Given the description of an element on the screen output the (x, y) to click on. 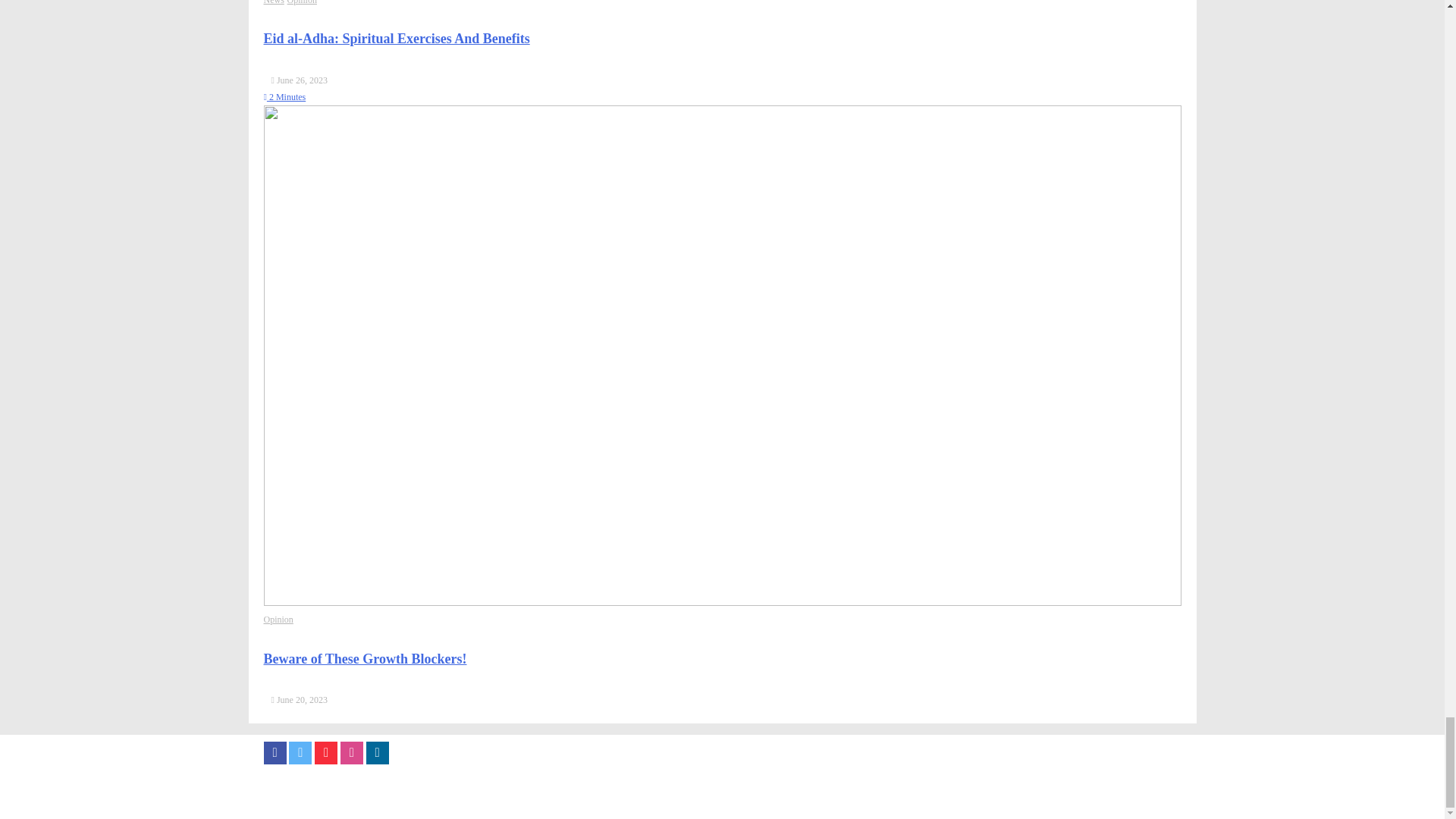
Estimated Reading Time of Article (284, 96)
